Given the description of an element on the screen output the (x, y) to click on. 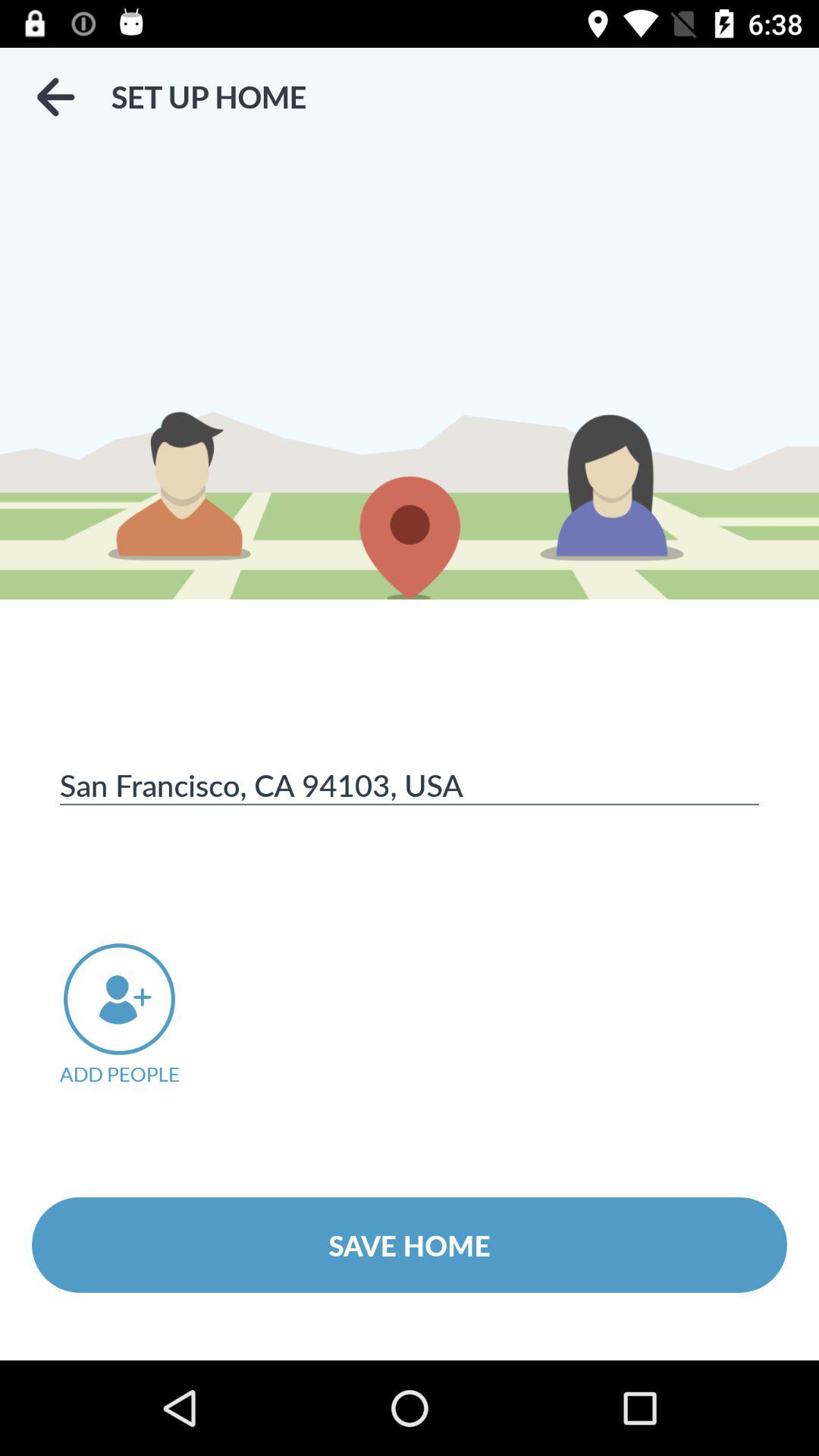
press icon below add people icon (409, 1244)
